Given the description of an element on the screen output the (x, y) to click on. 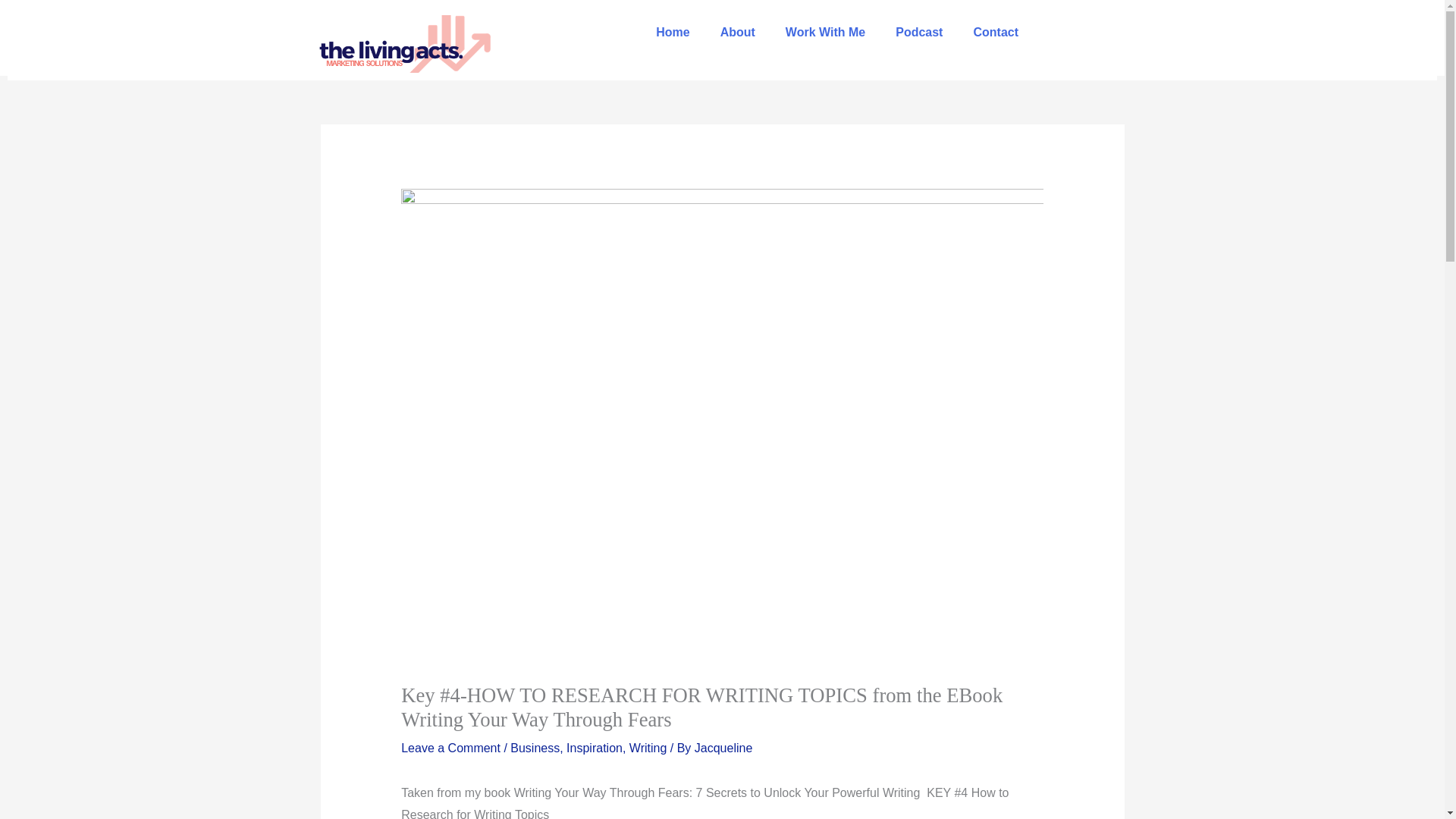
Jacqueline (723, 748)
View all posts by Jacqueline (723, 748)
Work With Me (825, 32)
Business (535, 748)
Contact (995, 32)
Podcast (919, 32)
Home (672, 32)
Inspiration (594, 748)
Leave a Comment (450, 748)
Writing (647, 748)
